Given the description of an element on the screen output the (x, y) to click on. 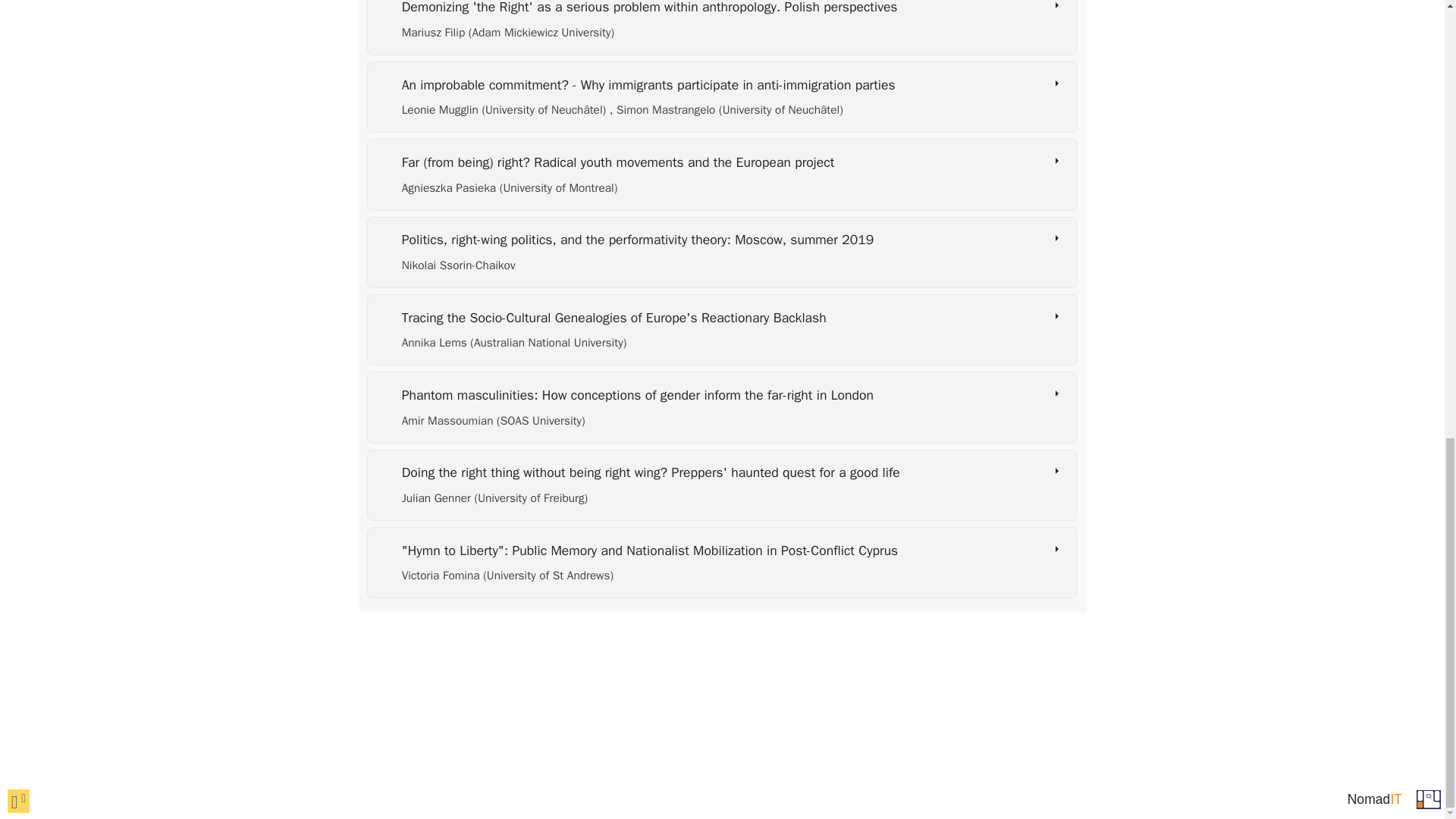
Author (458, 264)
Author (505, 109)
Author (726, 109)
Author (509, 187)
Author (494, 498)
Author (493, 420)
Author (506, 575)
Author (507, 32)
Author (514, 342)
